Given the description of an element on the screen output the (x, y) to click on. 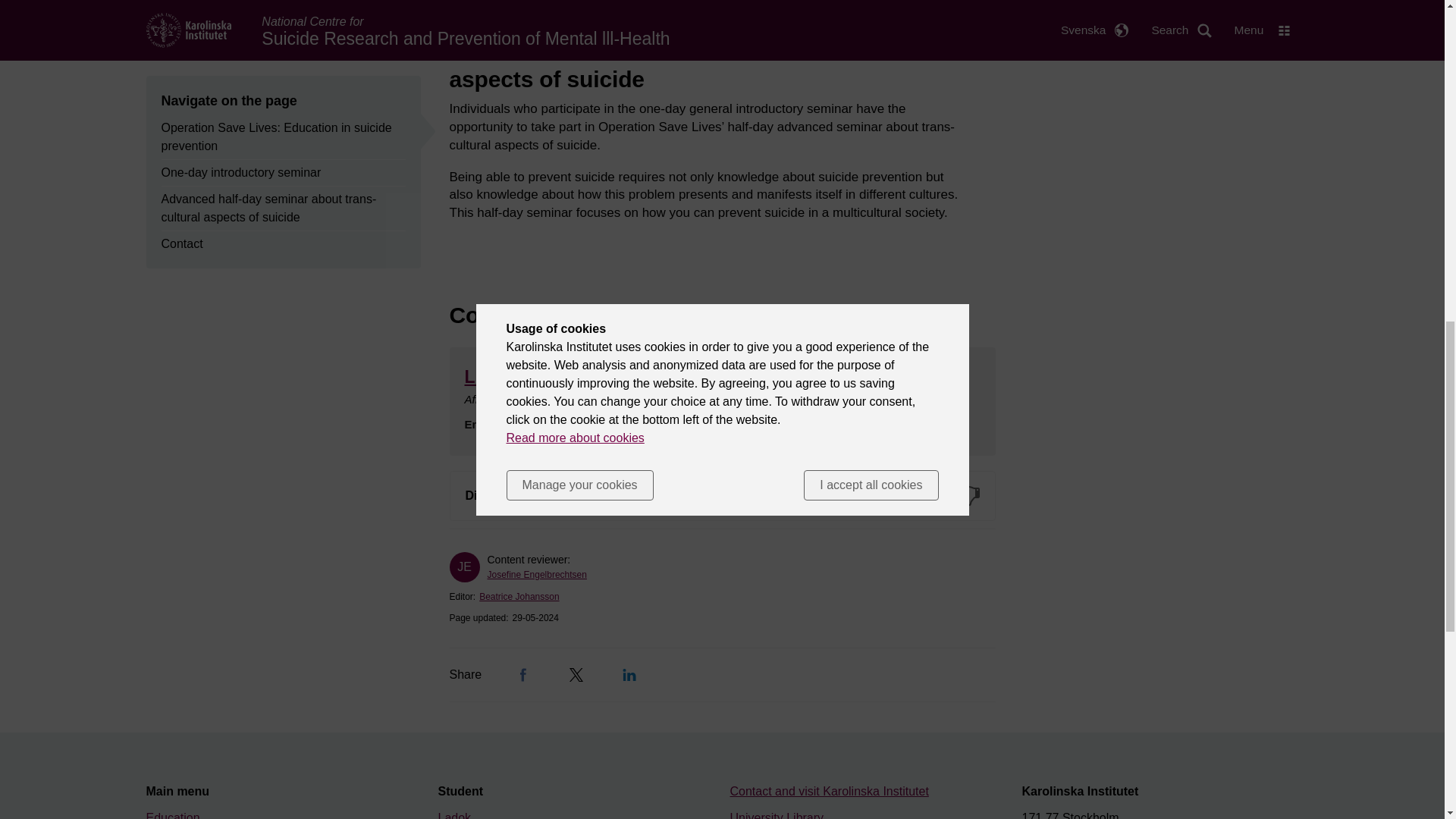
Twitter (576, 674)
Josefine Engelbrechtsen (536, 574)
Education (172, 815)
Ladok (454, 815)
Beatrice Johansson (519, 596)
LinkedIn (629, 674)
Linda Karlsson (526, 376)
Facebook (523, 674)
